Given the description of an element on the screen output the (x, y) to click on. 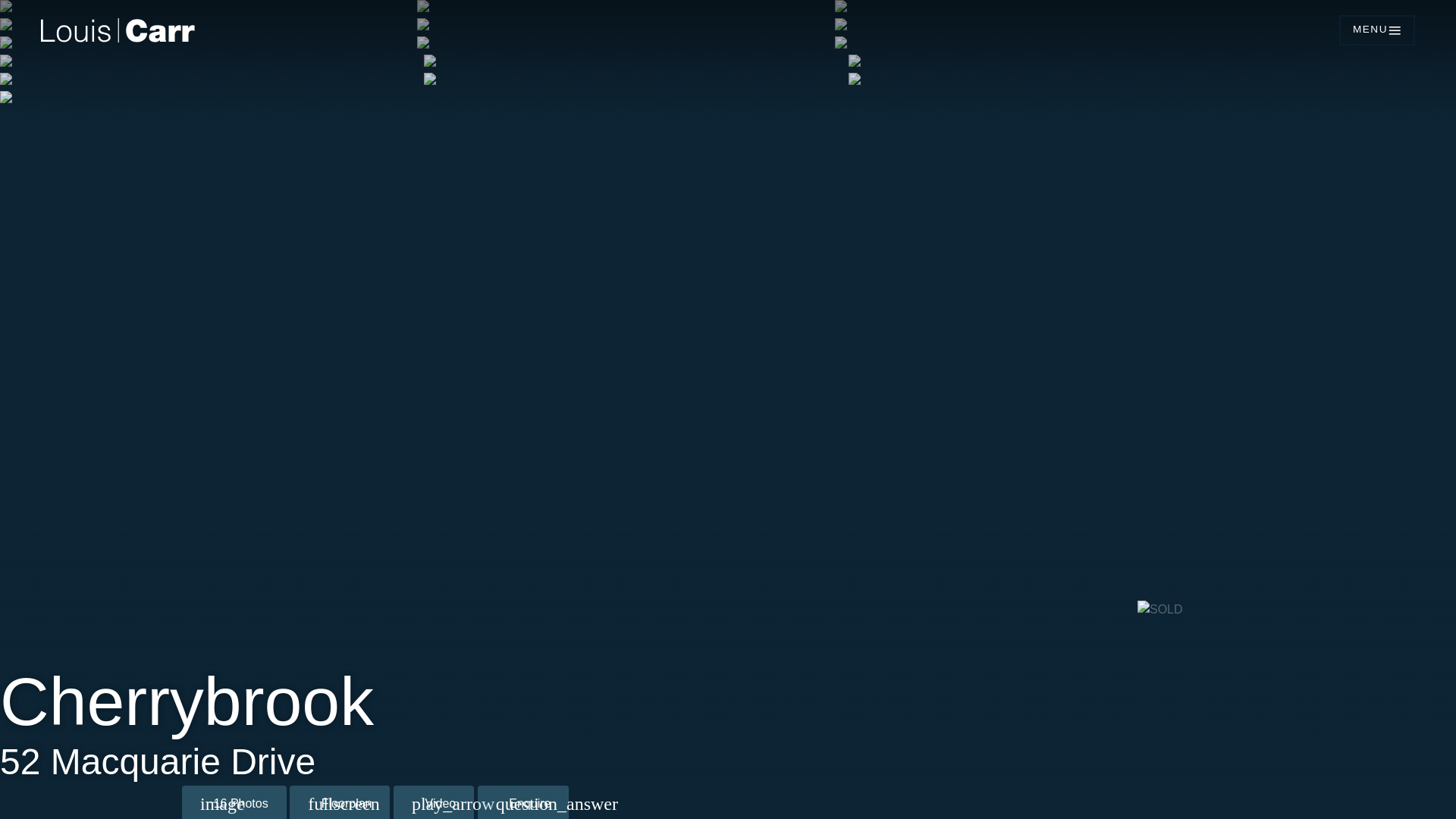
image 16 Photos (234, 802)
fullscreen Floorplan (339, 802)
Louis Carr Real Estate (498, 30)
